Given the description of an element on the screen output the (x, y) to click on. 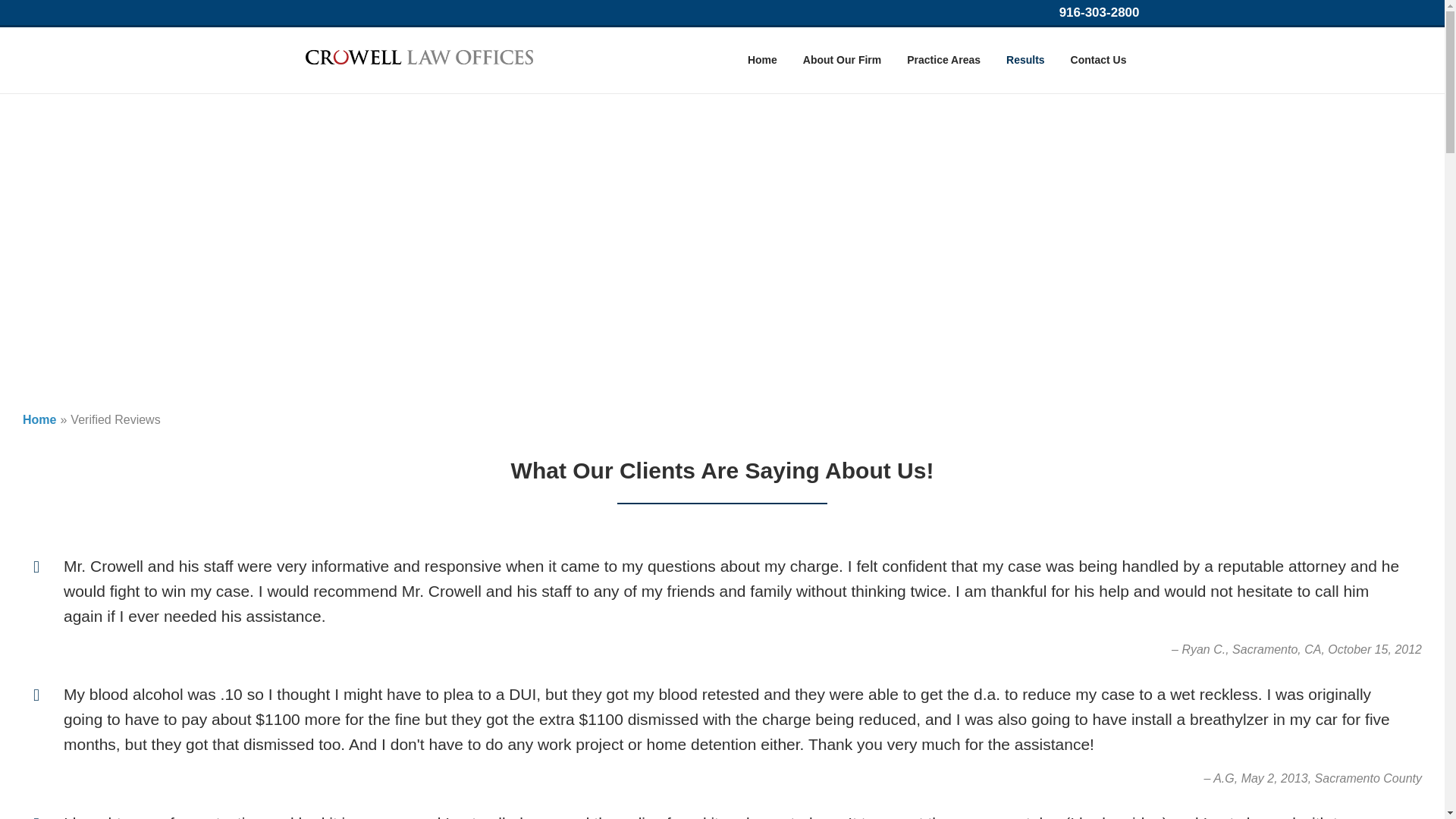
About Our Firm (841, 60)
Results (1025, 60)
Practice Areas (942, 60)
916-303-2800 (1099, 11)
